Given the description of an element on the screen output the (x, y) to click on. 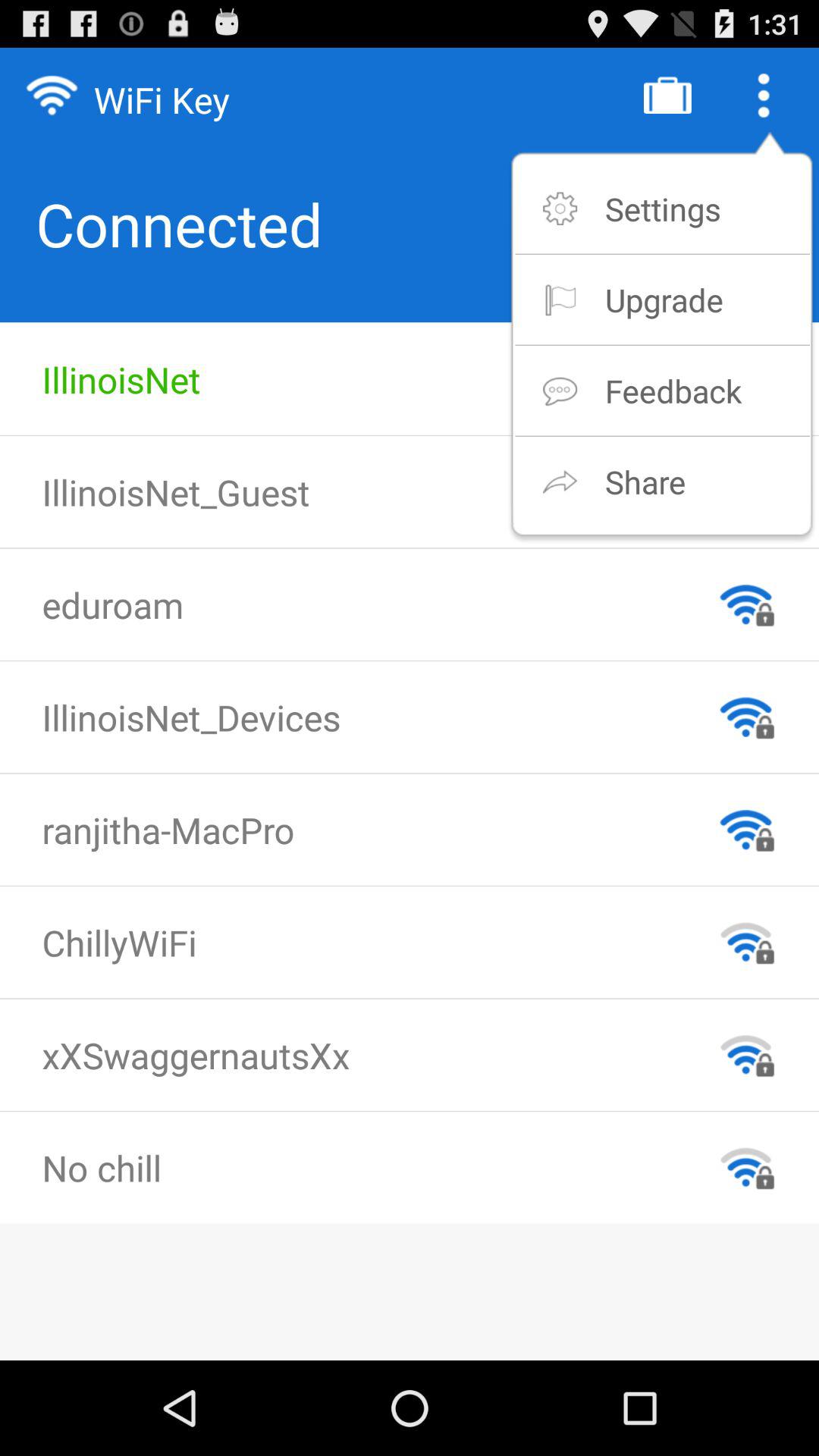
click the item below upgrade (673, 390)
